Given the description of an element on the screen output the (x, y) to click on. 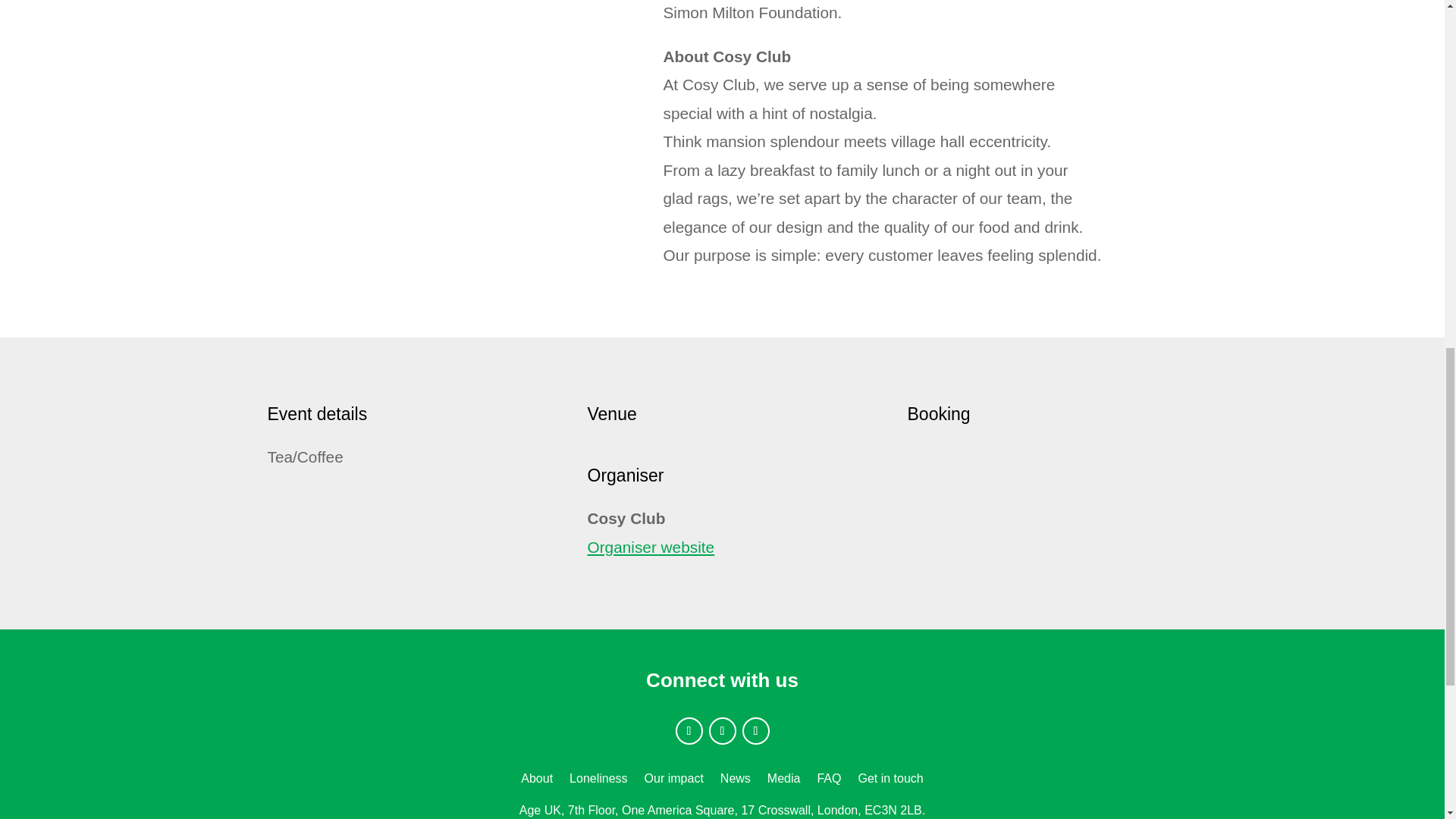
Follow on X (721, 730)
FAQ (828, 781)
Loneliness (598, 781)
Organiser website (650, 547)
About (537, 781)
Follow on Instagram (754, 730)
News (735, 781)
Follow on Facebook (688, 730)
Get in touch (890, 781)
Media (783, 781)
